Given the description of an element on the screen output the (x, y) to click on. 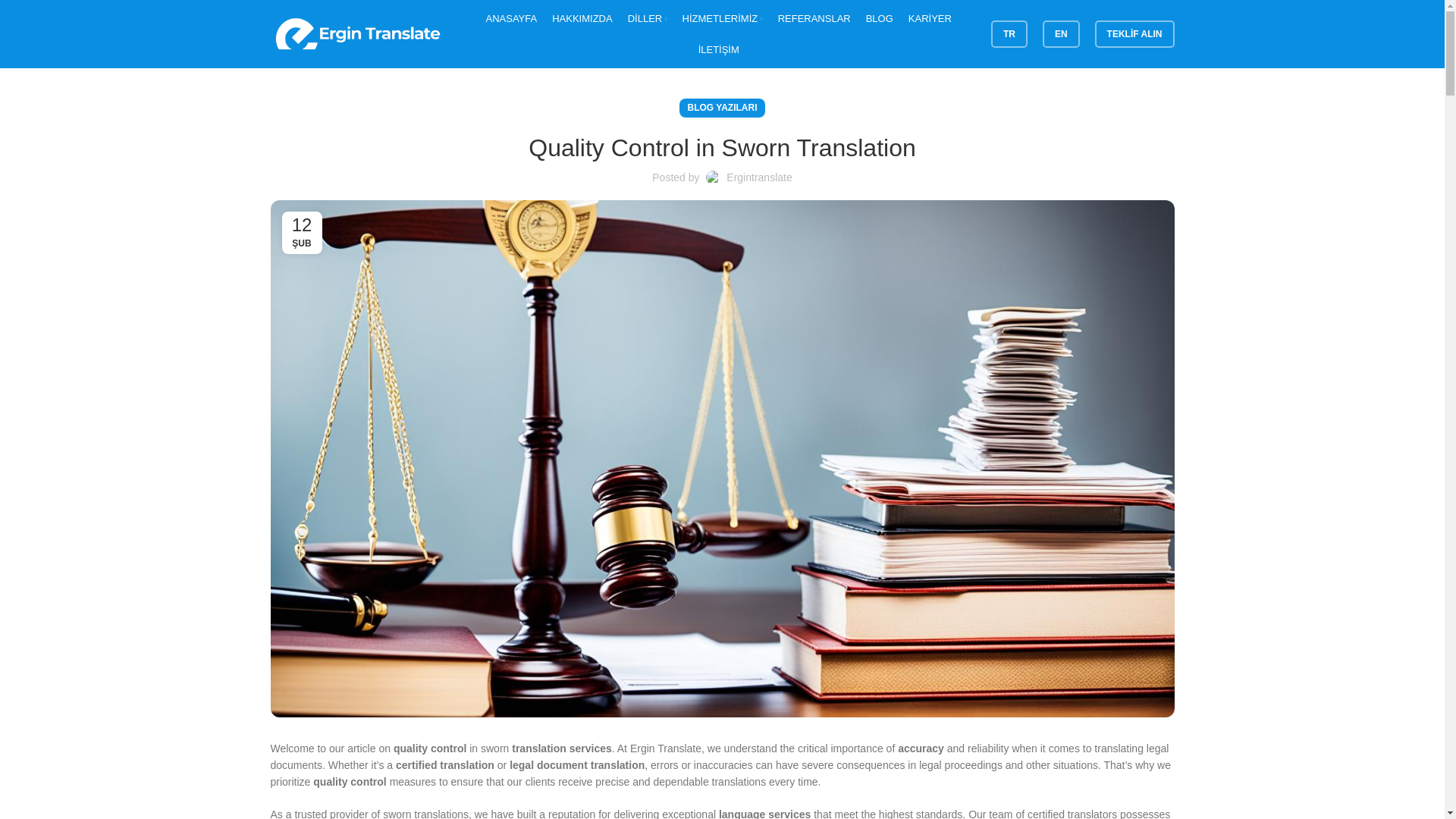
ANASAYFA (511, 18)
HAKKIMIZDA (581, 18)
DILLER (646, 18)
